Given the description of an element on the screen output the (x, y) to click on. 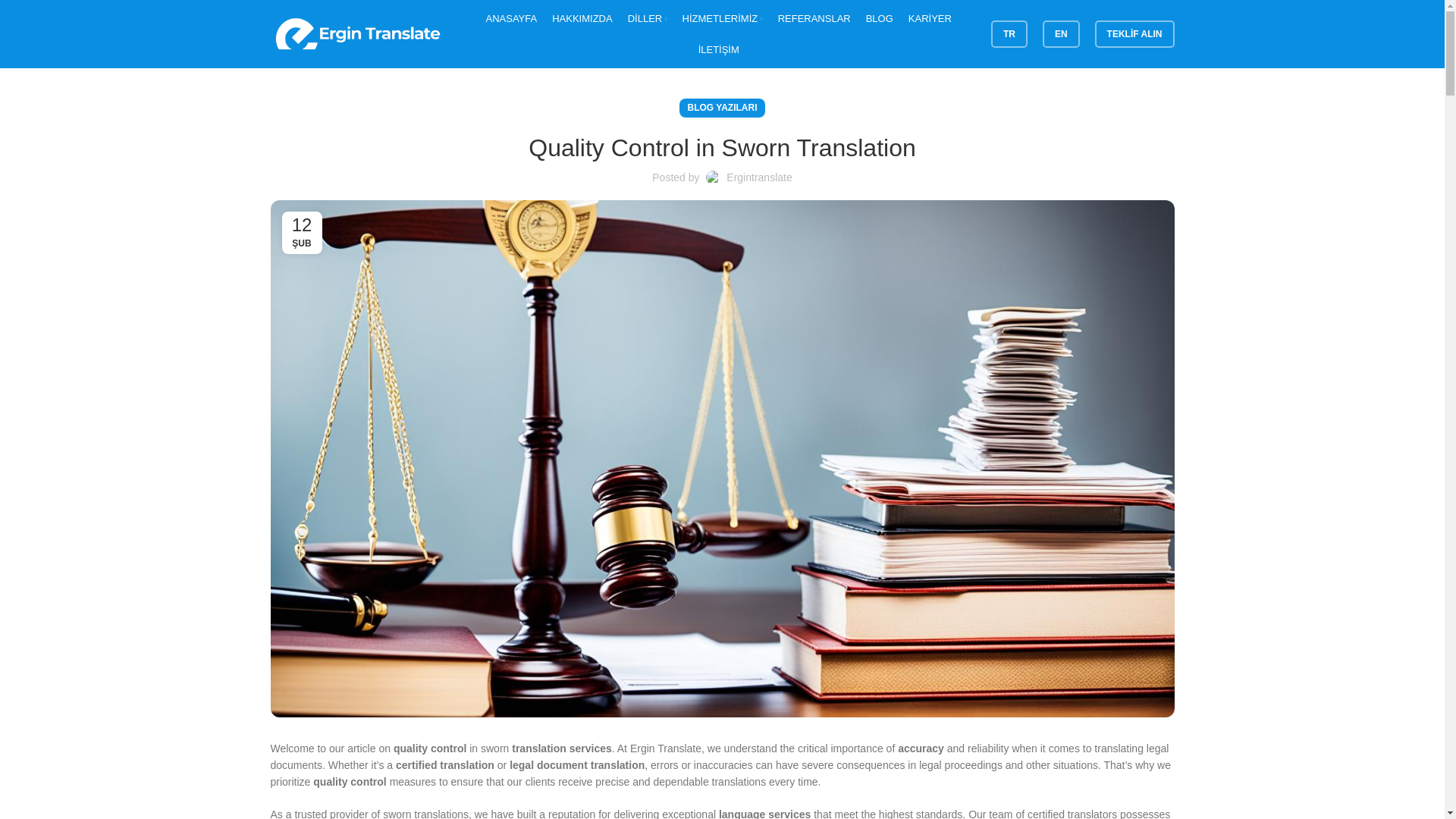
ANASAYFA (511, 18)
HAKKIMIZDA (581, 18)
DILLER (646, 18)
